Given the description of an element on the screen output the (x, y) to click on. 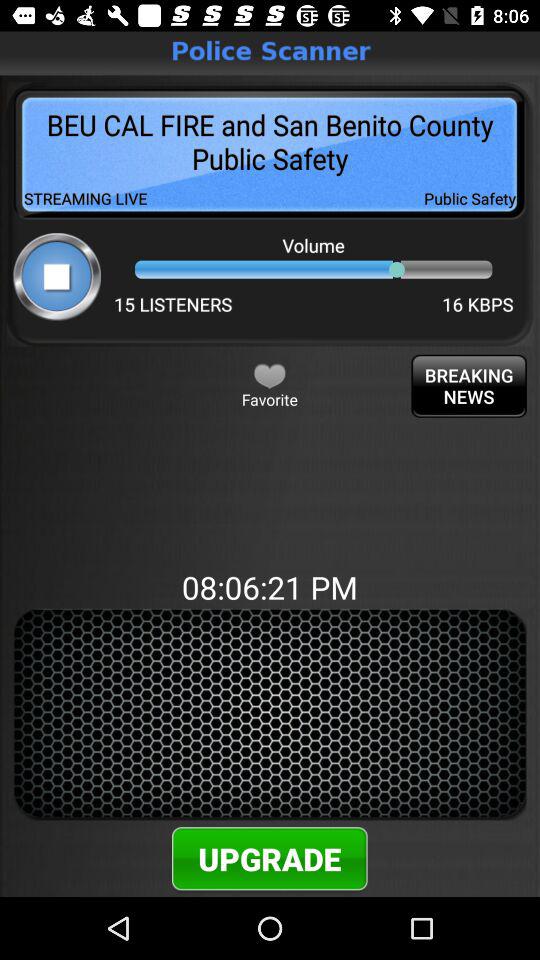
stop playing (56, 276)
